Given the description of an element on the screen output the (x, y) to click on. 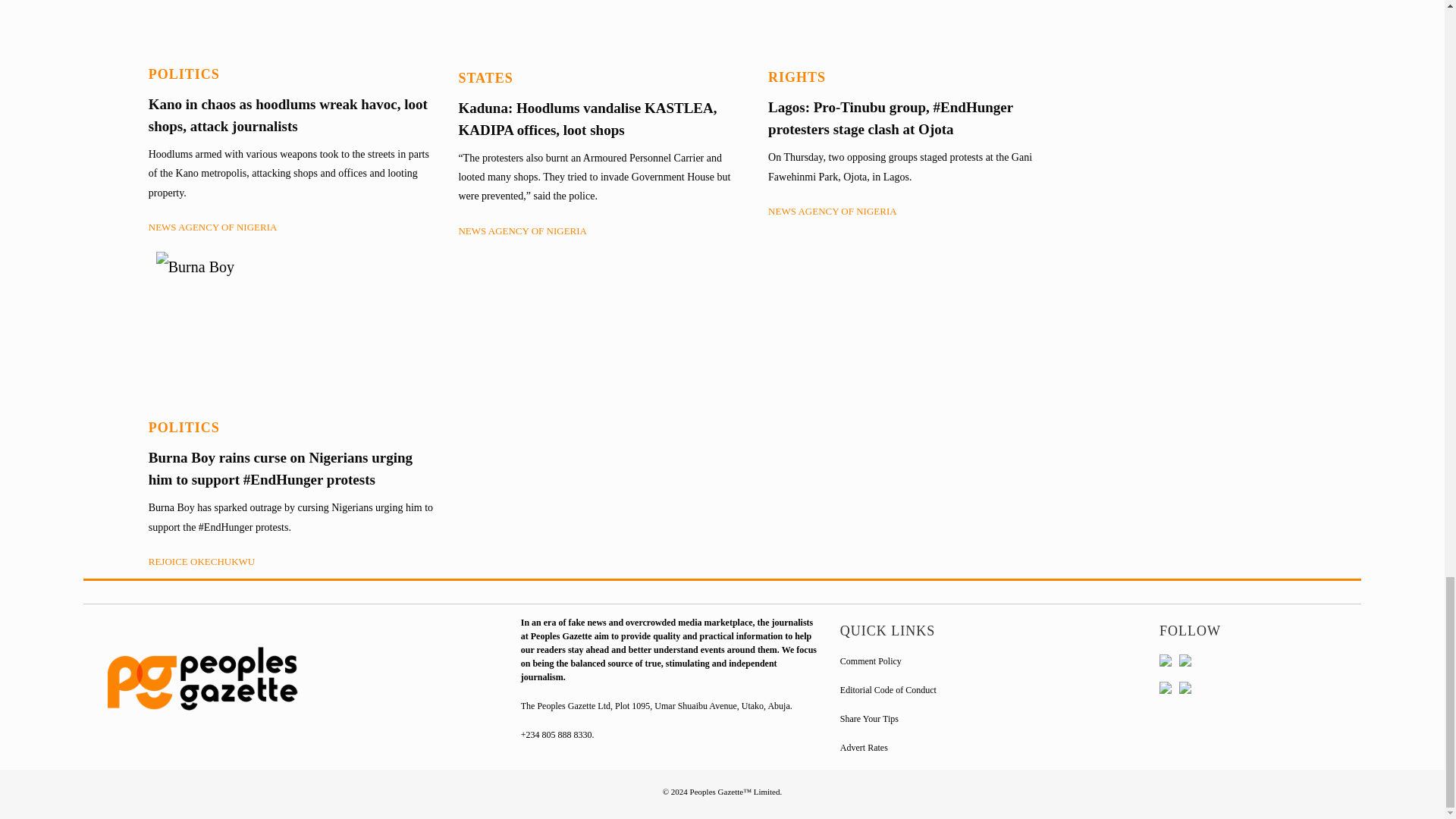
 States (485, 77)
Posts by News Agency of Nigeria (213, 226)
 Politics (183, 73)
Posts by News Agency of Nigeria (522, 230)
